Given the description of an element on the screen output the (x, y) to click on. 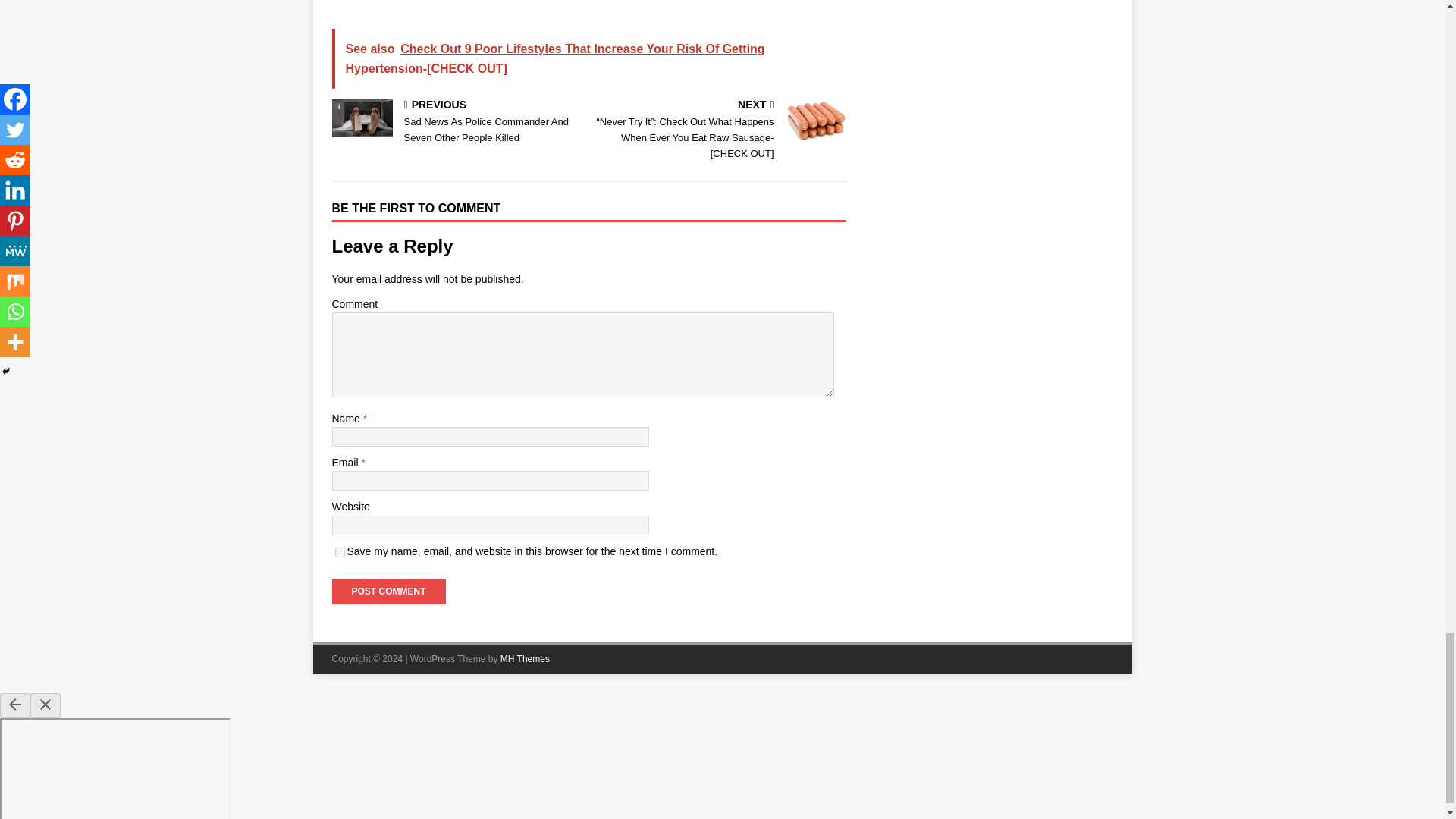
yes (339, 552)
Post Comment (388, 591)
Post Comment (388, 591)
